Given the description of an element on the screen output the (x, y) to click on. 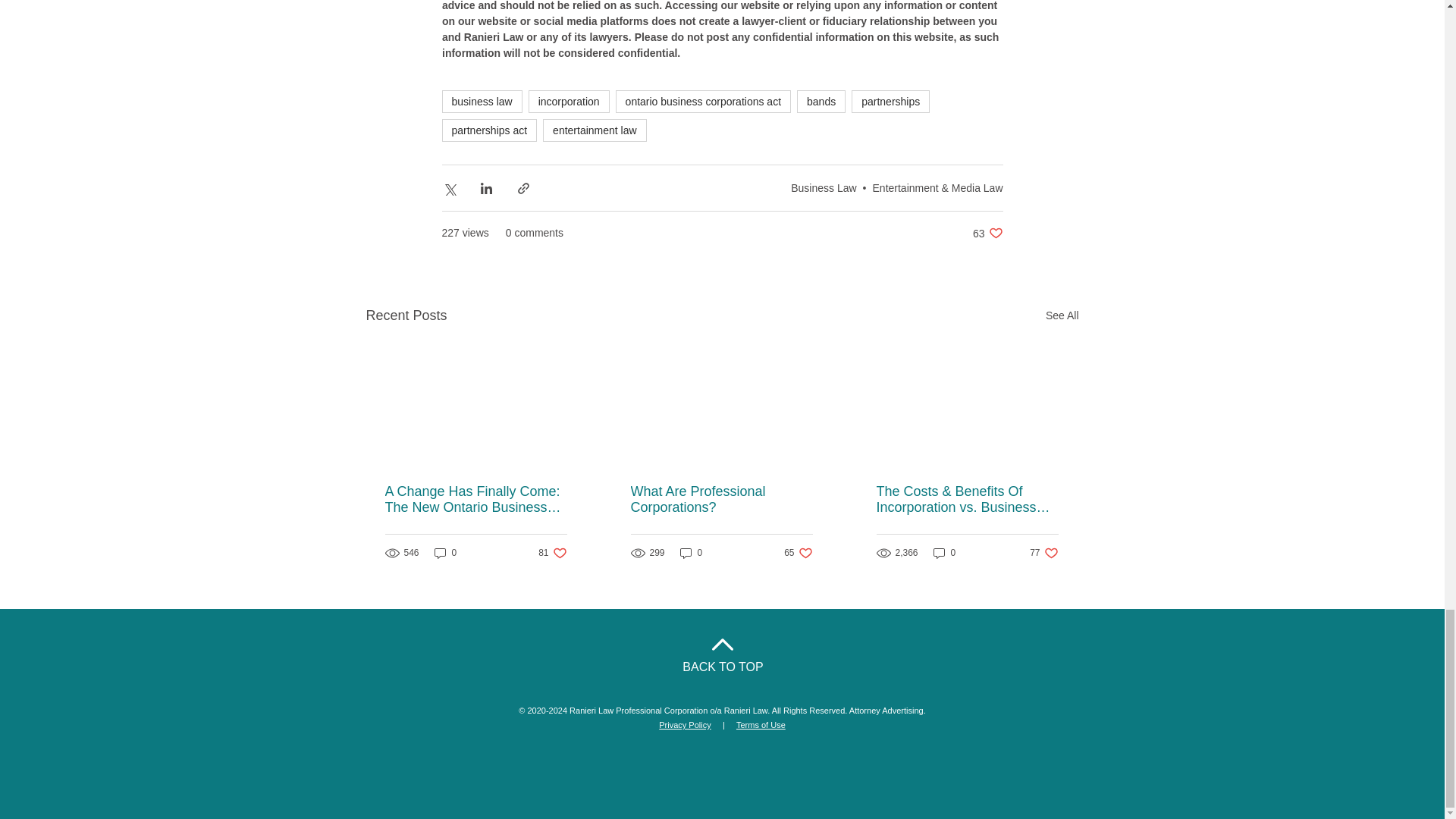
0 (691, 553)
A Change Has Finally Come: The New Ontario Business Registry (798, 553)
Business Law (552, 553)
partnerships (476, 499)
partnerships act (823, 187)
What Are Professional Corporations? (890, 101)
See All (987, 233)
